Given the description of an element on the screen output the (x, y) to click on. 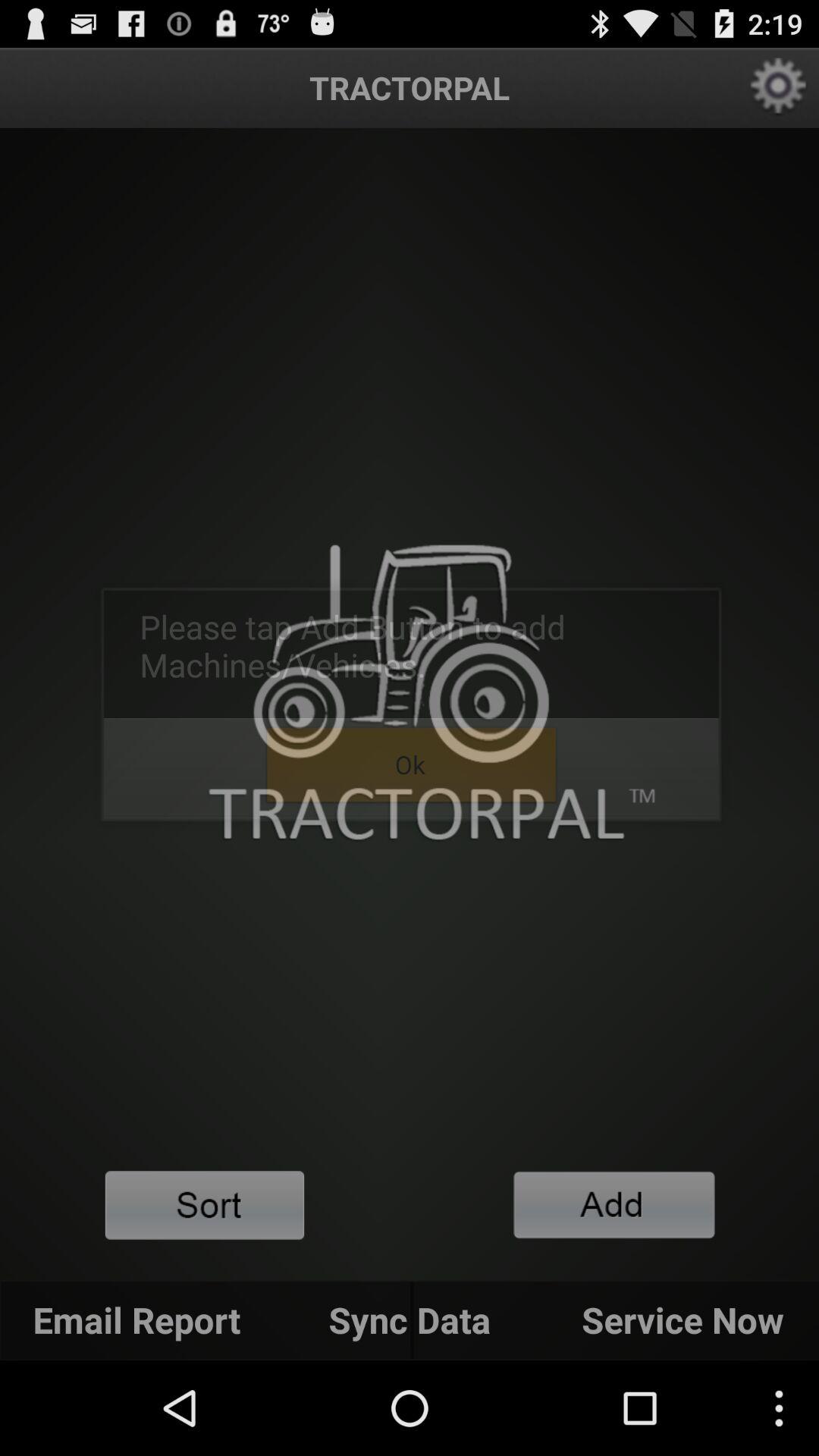
content filter (204, 1205)
